Given the description of an element on the screen output the (x, y) to click on. 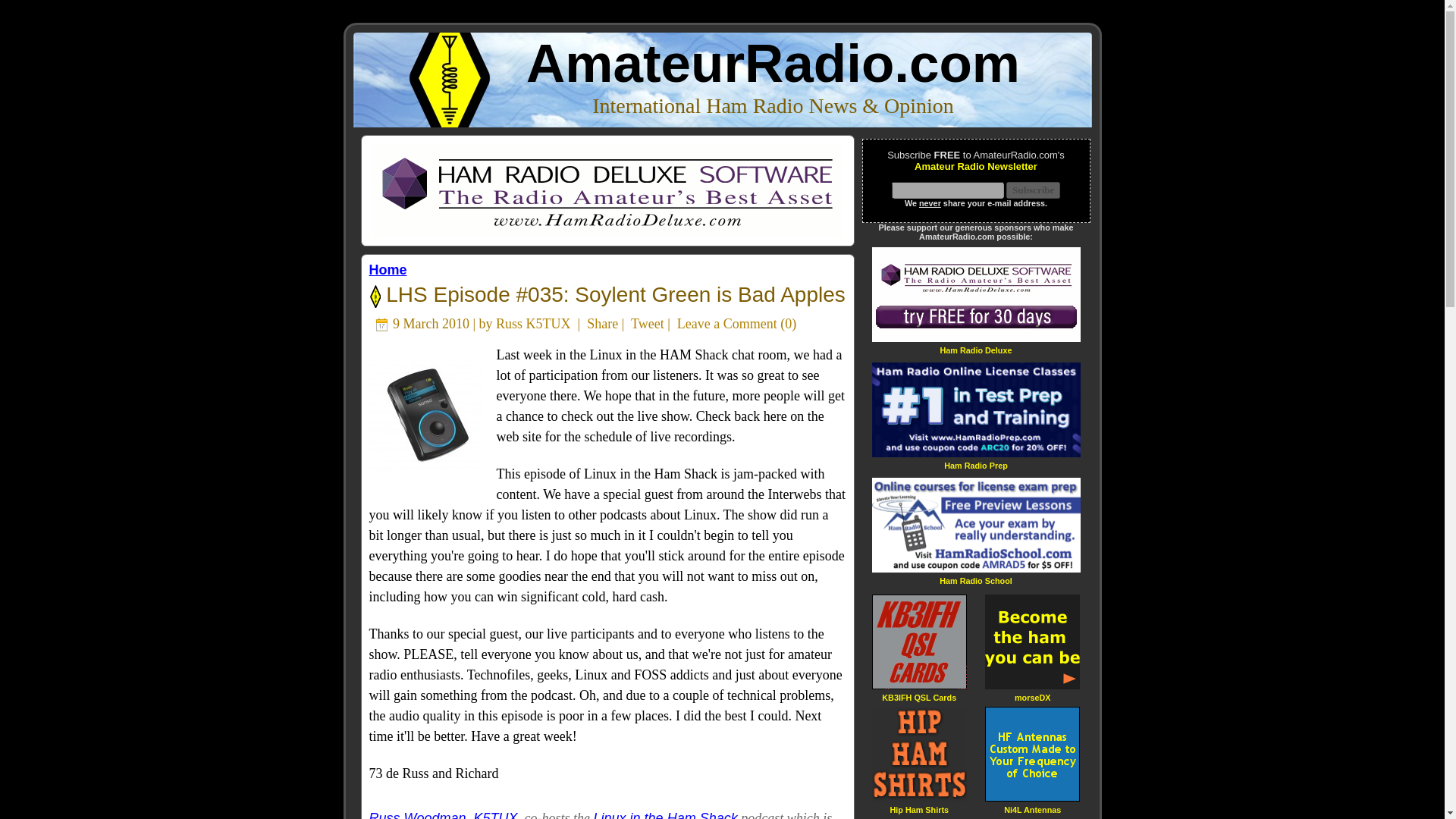
sansacliptilt (424, 415)
Russ Woodman, K5TUX (442, 814)
Ham Radio Prep (975, 464)
Russ K5TUX (533, 323)
Subscribe (1032, 190)
Ham Radio Deluxe (975, 349)
Leave a Comment (727, 323)
0 (788, 323)
KB3IFH QSL Cards (919, 696)
Linux in the Ham Shack (666, 814)
Share (601, 323)
AmateurRadio.com (772, 63)
Tweet (646, 323)
Subscribe (1032, 190)
Hip Ham Shirts (919, 808)
